Given the description of an element on the screen output the (x, y) to click on. 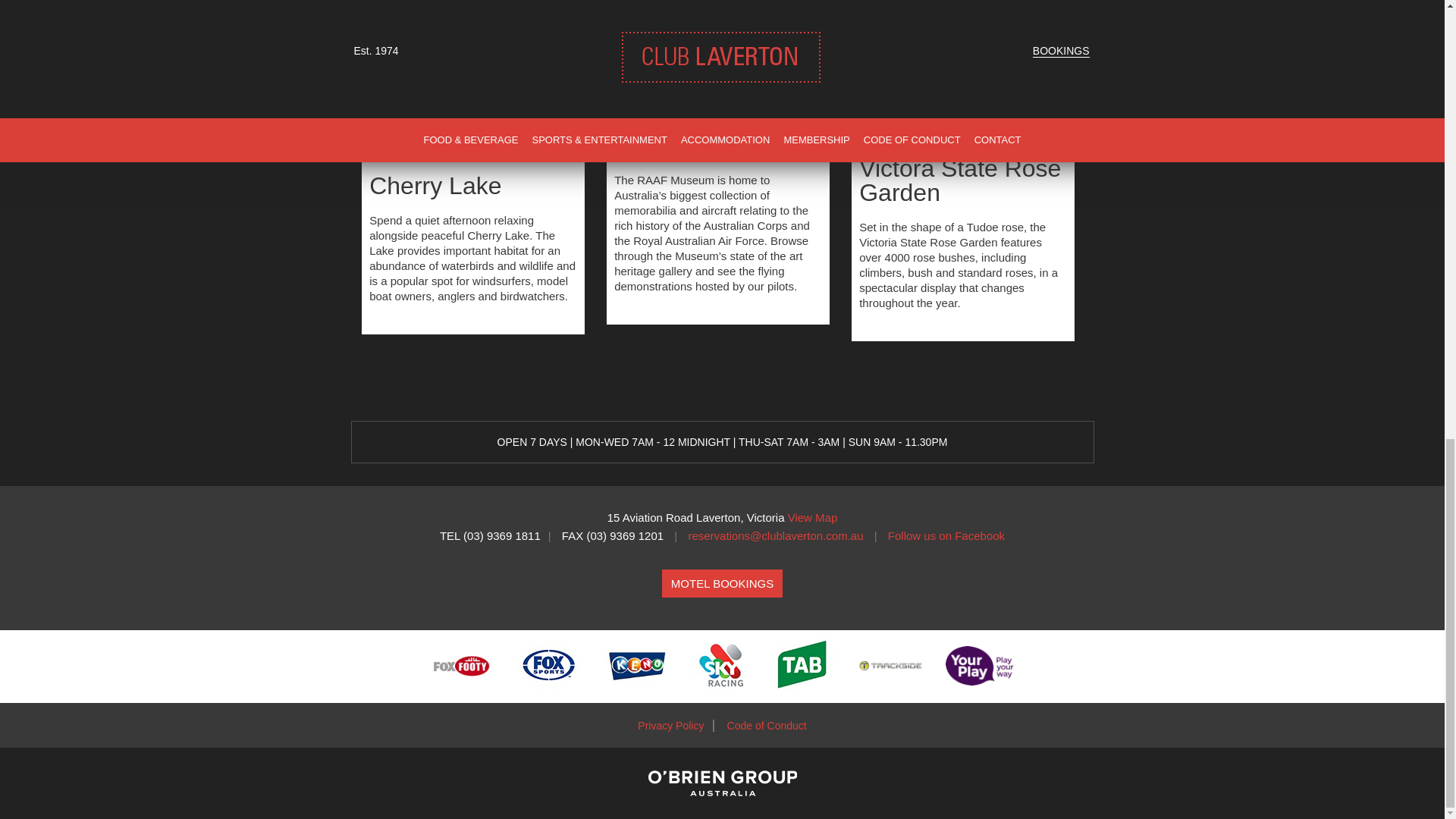
MOTEL BOOKINGS (722, 583)
Map (812, 517)
O'Brien Group Australia (721, 793)
Follow us on Facebook (946, 535)
View Map (812, 517)
facebook (946, 535)
Privacy Policy (671, 725)
Code of Conduct (766, 725)
Motel Bookings (722, 583)
